Given the description of an element on the screen output the (x, y) to click on. 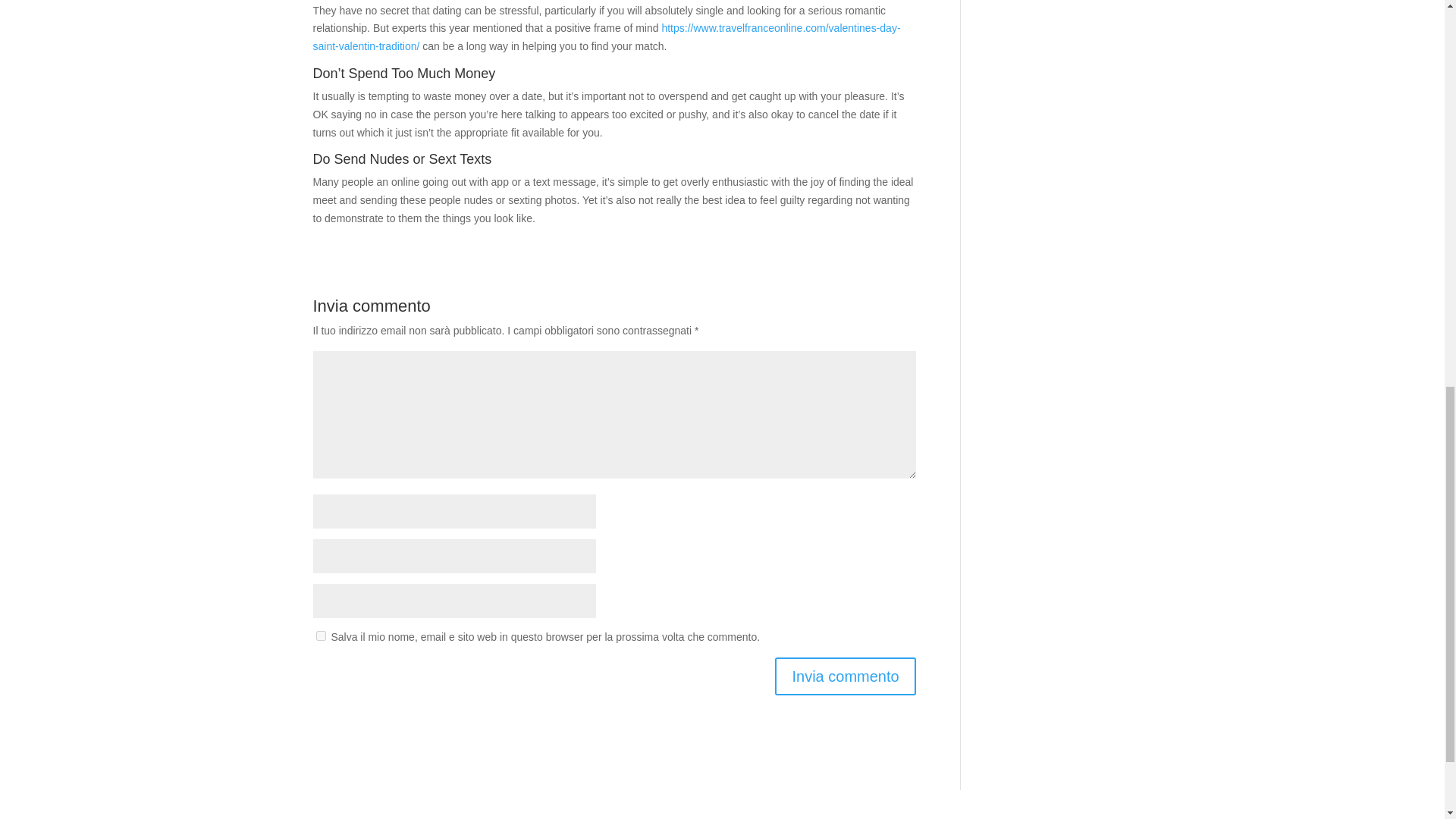
Invia commento (844, 676)
Invia commento (844, 676)
yes (319, 635)
